Given the description of an element on the screen output the (x, y) to click on. 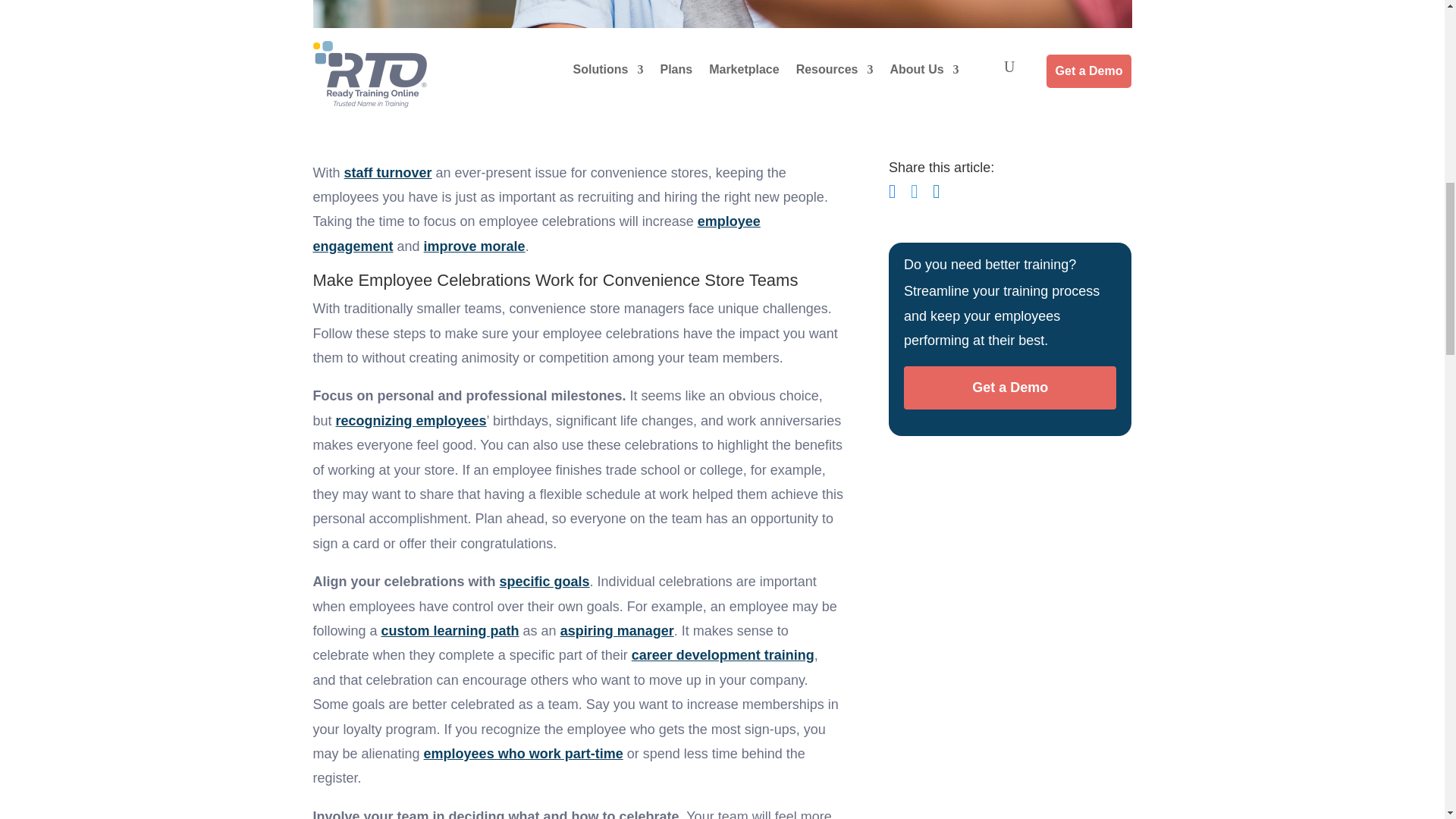
Make Employee Celebrations for Convenience Store Teams (722, 51)
